Given the description of an element on the screen output the (x, y) to click on. 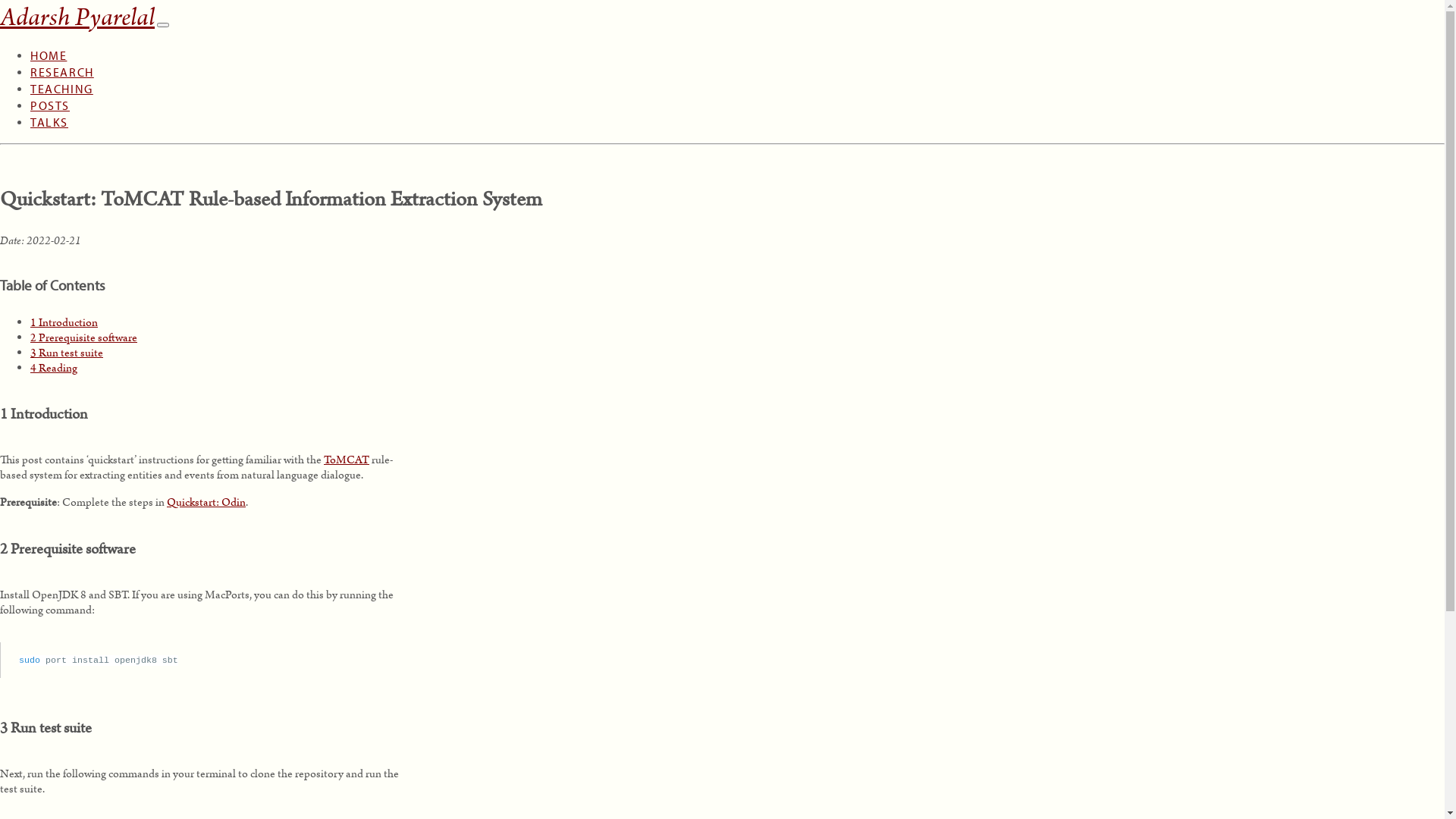
TEACHING Element type: text (61, 75)
3 Run test suite Element type: text (66, 352)
Quickstart: Odin Element type: text (205, 502)
RESEARCH Element type: text (62, 58)
POSTS Element type: text (49, 91)
ToMCAT Element type: text (346, 459)
HOME Element type: text (48, 41)
1 Introduction Element type: text (63, 321)
2 Prerequisite software Element type: text (83, 337)
4 Reading Element type: text (53, 367)
TALKS Element type: text (49, 108)
